Given the description of an element on the screen output the (x, y) to click on. 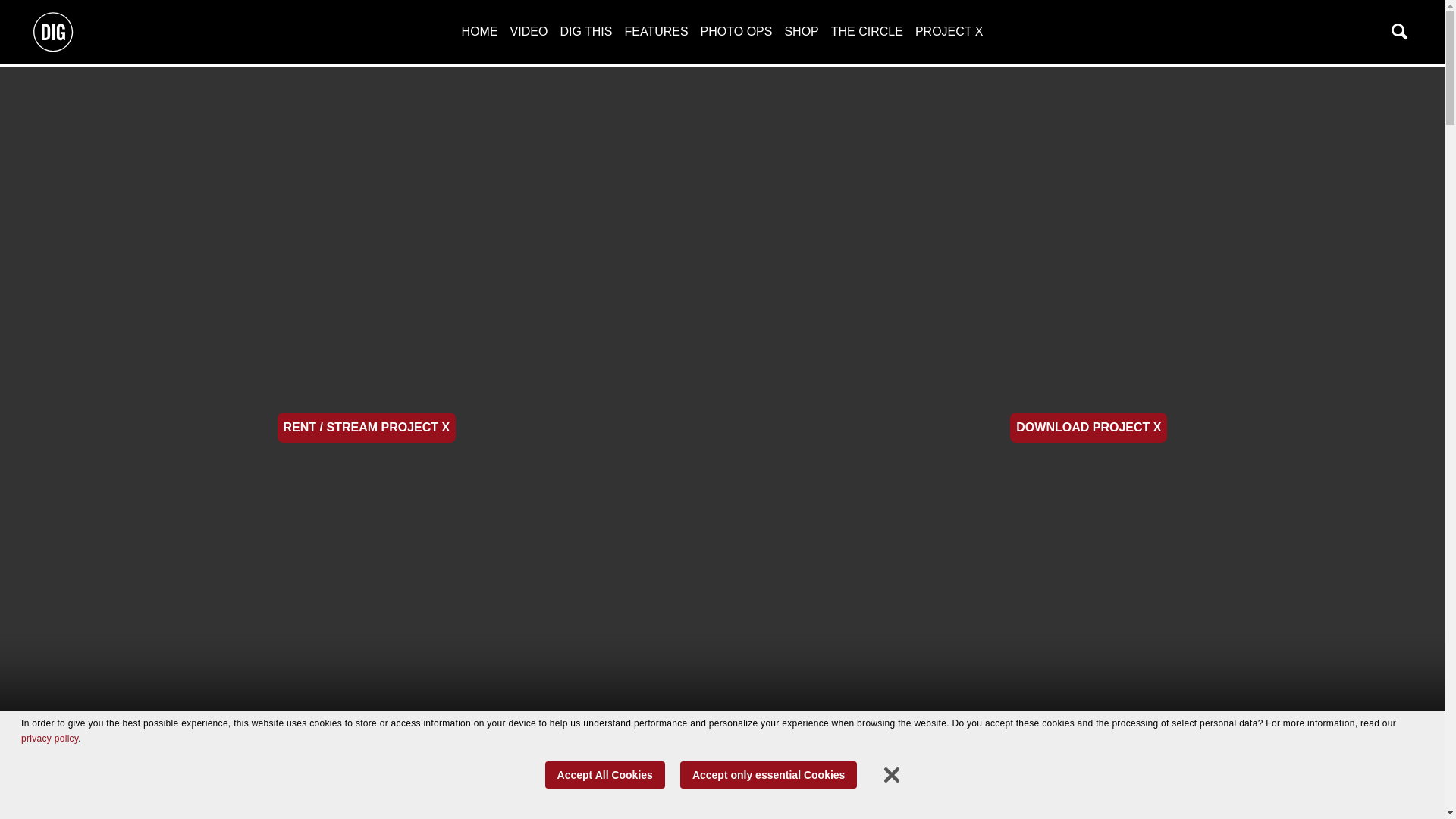
VIDEO (528, 31)
PROJECT X (949, 31)
DOWNLOAD PROJECT X (1088, 427)
PHOTO OPS (736, 31)
HOME (479, 31)
SHOP (800, 31)
DIG THIS (585, 31)
THE CIRCLE (866, 31)
FEATURES (655, 31)
